Given the description of an element on the screen output the (x, y) to click on. 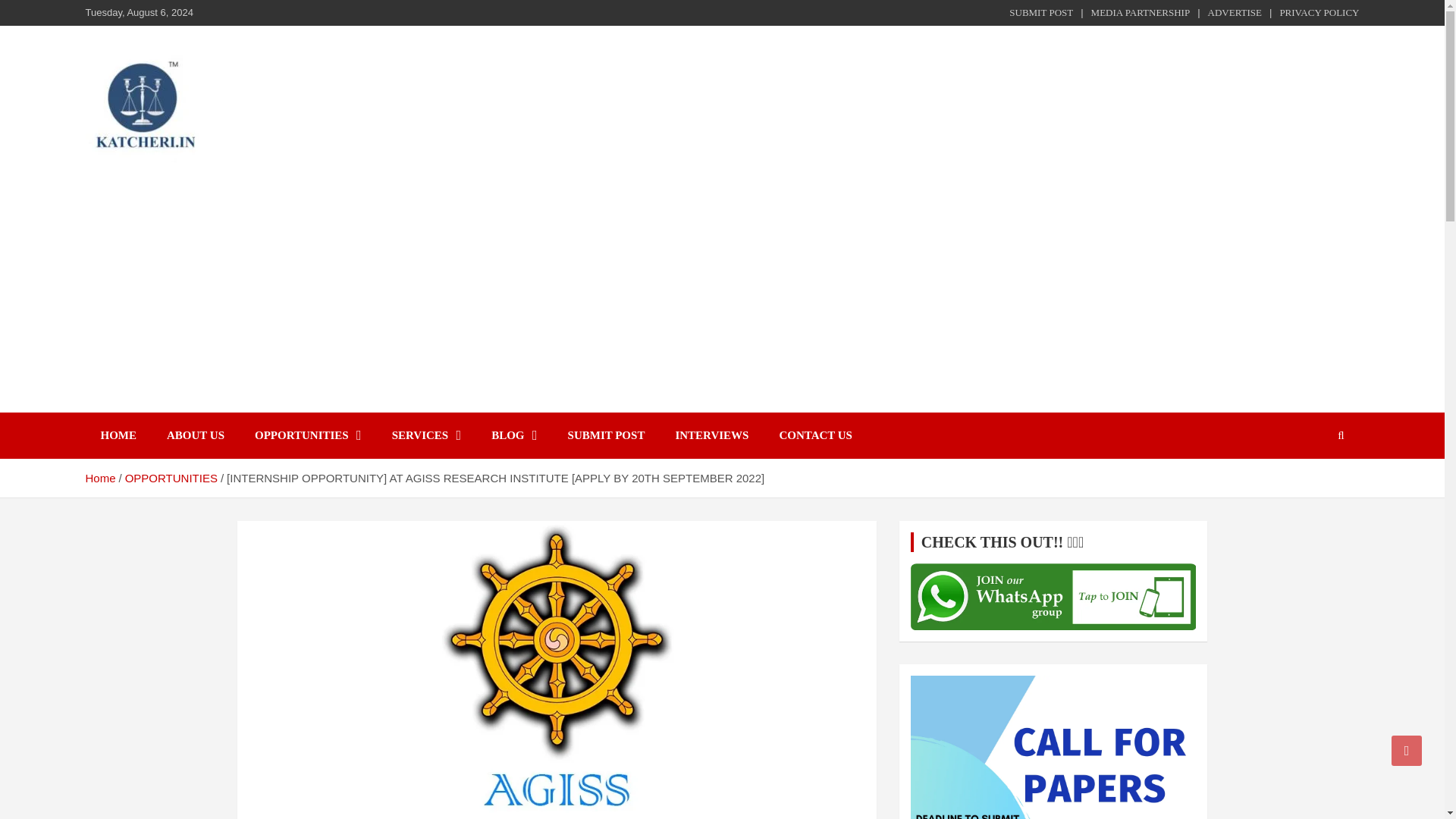
OPPORTUNITIES (308, 435)
SUBMIT POST (607, 435)
Home (99, 477)
OPPORTUNITIES (170, 477)
CONTACT US (814, 435)
ABOUT US (195, 435)
SERVICES (427, 435)
ADVERTISE (1235, 12)
PRIVACY POLICY (1318, 12)
